Given the description of an element on the screen output the (x, y) to click on. 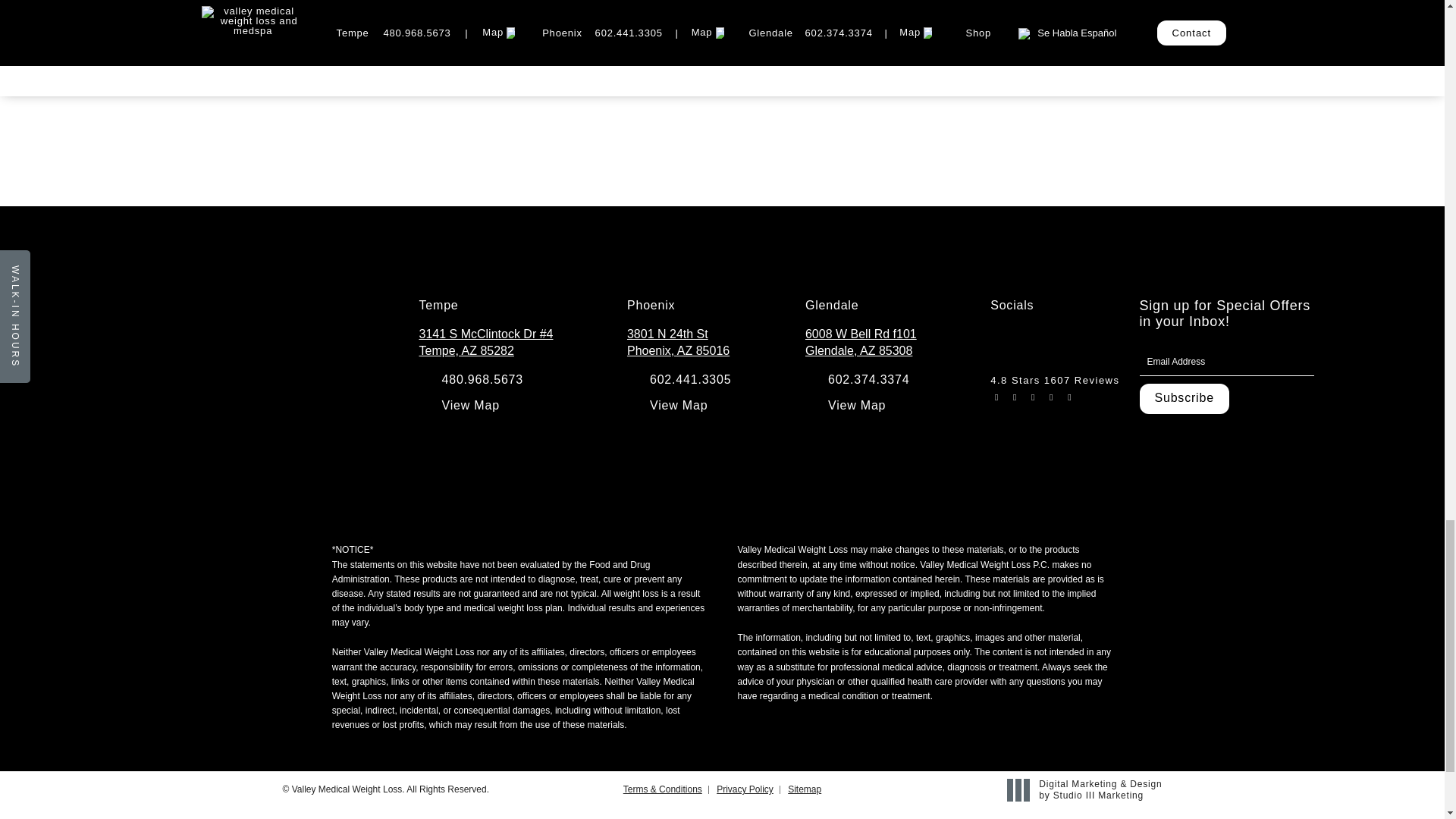
Valley Medical Weight Loss on Instagram (1000, 343)
Valley Medical Weight Loss on Youtube (1061, 343)
Subscribe (1183, 399)
Valley Medical Weight Loss on Yelp (1092, 343)
Valley Medical Weight Loss on Facebook (1031, 343)
